Given the description of an element on the screen output the (x, y) to click on. 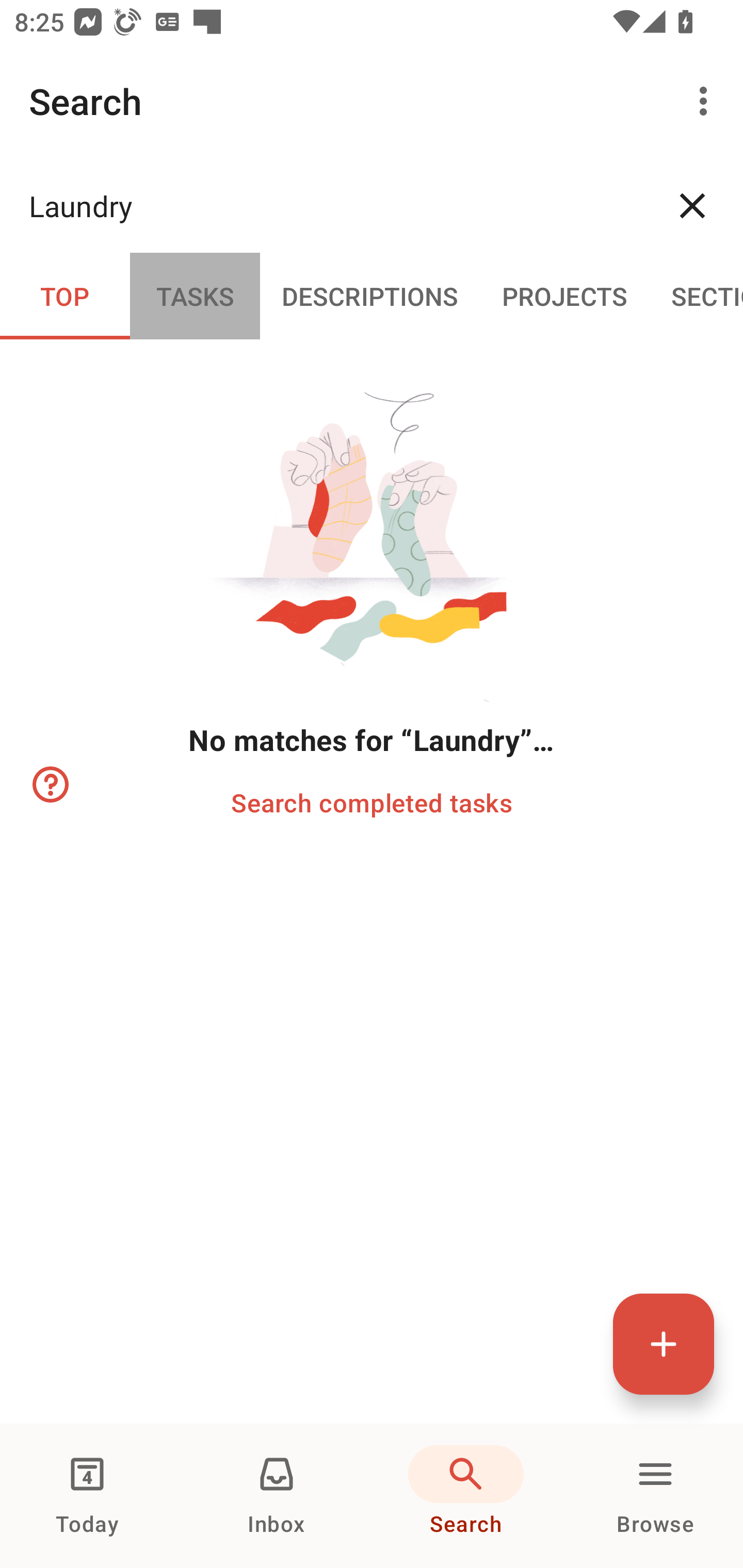
Search More options (371, 100)
More options (706, 101)
Laundry (335, 205)
Clear (692, 205)
Tasks TASKS (195, 295)
Descriptions DESCRIPTIONS (370, 295)
Projects PROJECTS (564, 295)
Learn how to refine your search (48, 784)
Search completed tasks (371, 801)
Quick add (663, 1343)
Today (87, 1495)
Inbox (276, 1495)
Browse (655, 1495)
